Given the description of an element on the screen output the (x, y) to click on. 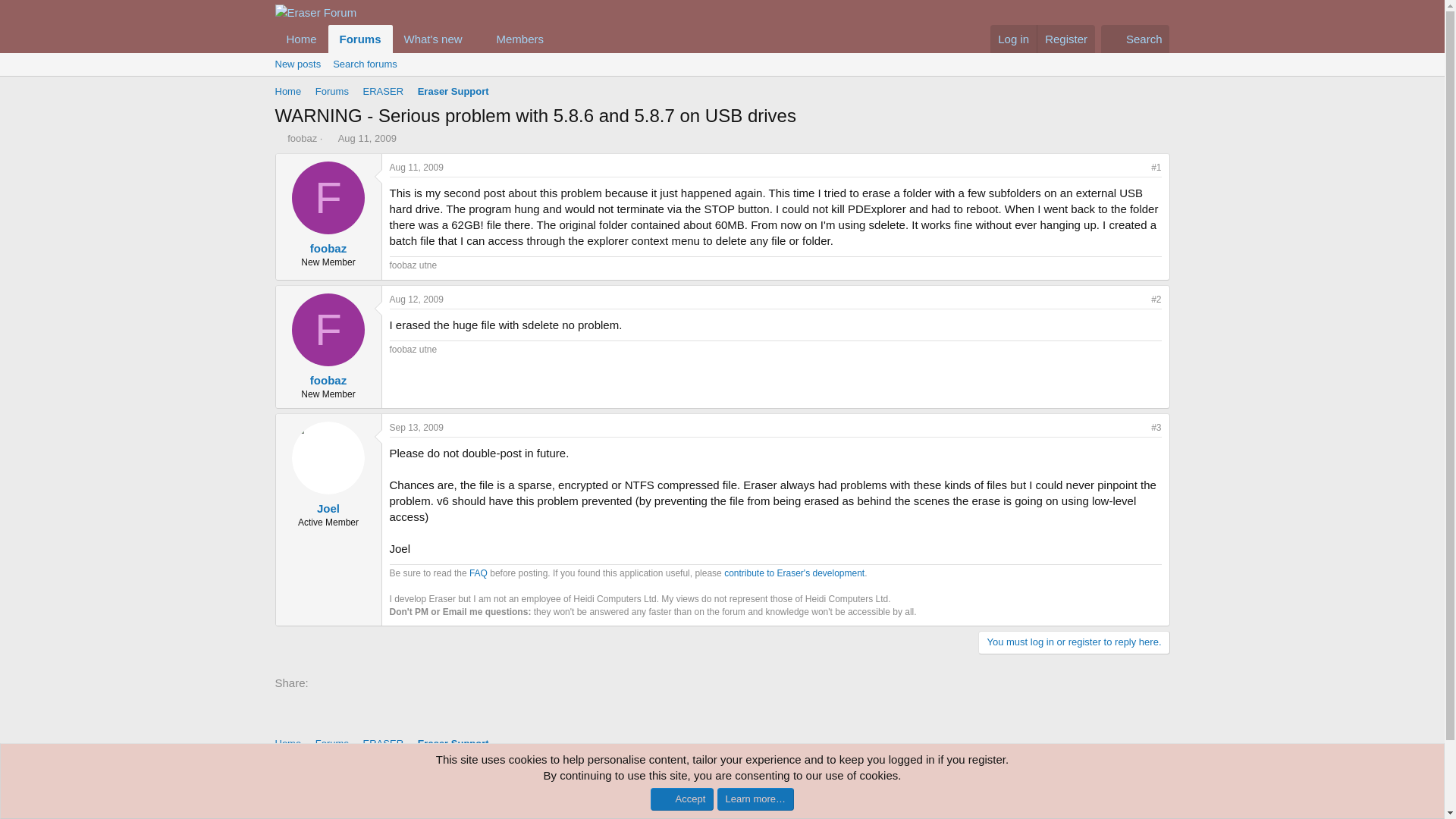
Aug 12, 2009 at 5:28 PM (417, 299)
foobaz (301, 138)
Home (419, 39)
Aug 11, 2009 at 7:07 PM (301, 39)
Register (417, 167)
foobaz (1065, 39)
Log in (328, 247)
Forums (1013, 39)
F (361, 39)
